Given the description of an element on the screen output the (x, y) to click on. 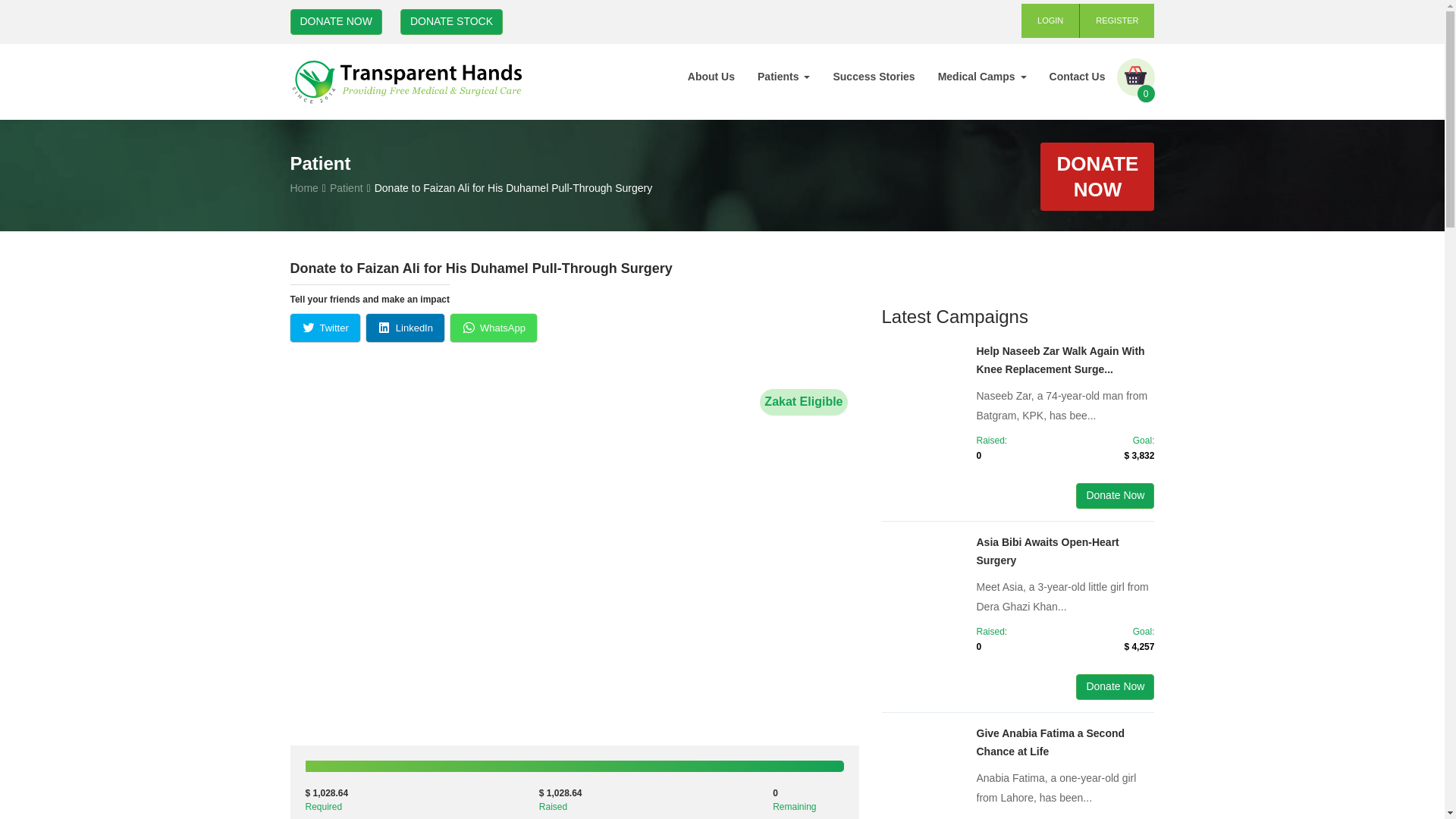
Click to share on WhatsApp (493, 327)
Twitter (324, 327)
LinkedIn (405, 327)
Click to share on Twitter (324, 327)
REGISTER (1117, 20)
About Us (711, 76)
LOGIN (1051, 20)
DONATE NOW (335, 22)
Home (303, 187)
Contact Us (1077, 76)
